Given the description of an element on the screen output the (x, y) to click on. 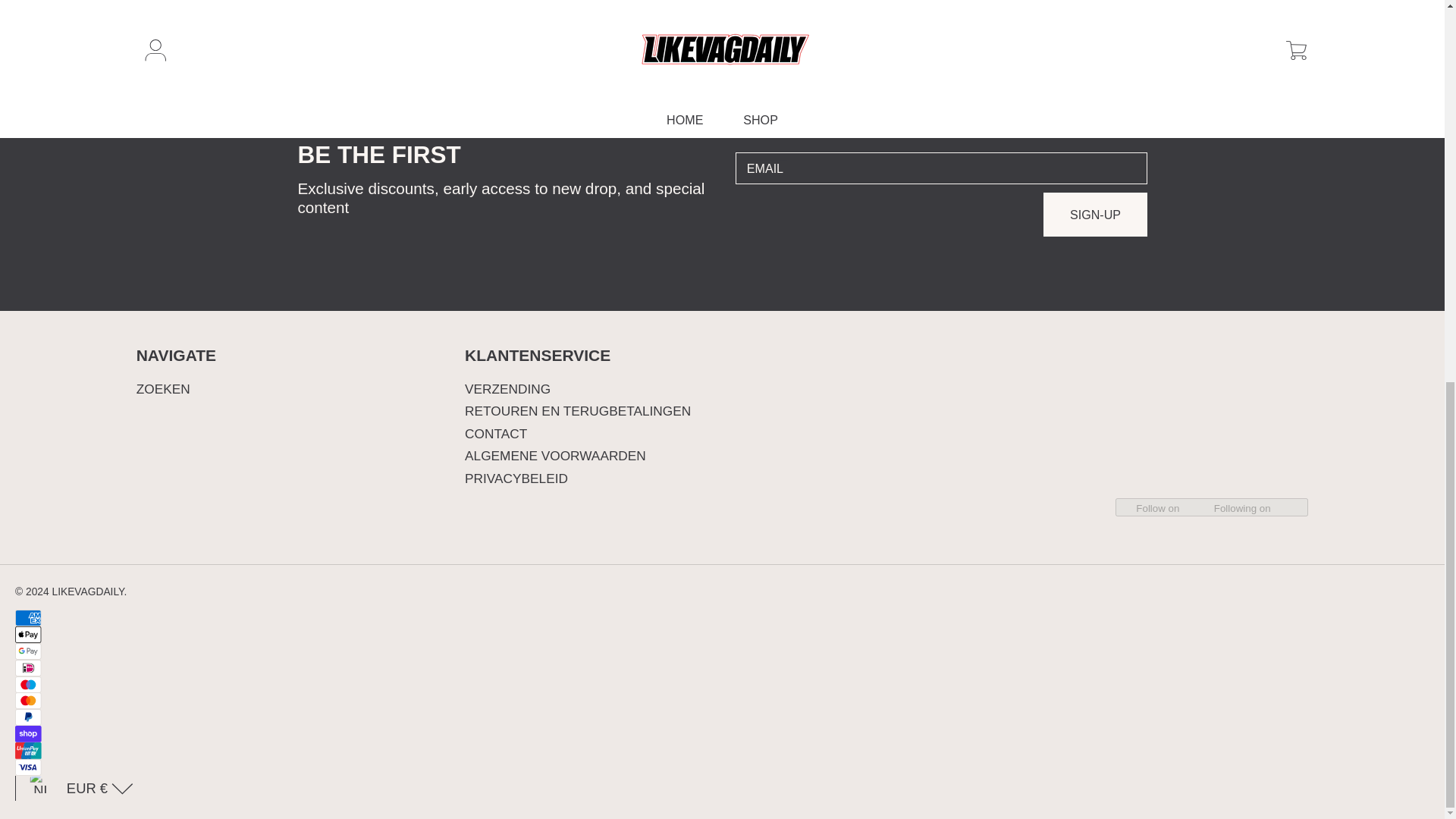
Google Pay (27, 650)
Maestro (27, 684)
RETOUREN EN TERUGBETALINGEN (577, 410)
PayPal (27, 717)
Visa (27, 767)
VERZENDING (507, 388)
American Express (27, 617)
ZOEKEN (163, 388)
iDEAL (27, 668)
Mastercard (27, 700)
ALGEMENE VOORWAARDEN (555, 455)
SIGN-UP (1095, 213)
PRIVACYBELEID (515, 478)
Shop Pay (27, 733)
Union Pay (27, 750)
